Given the description of an element on the screen output the (x, y) to click on. 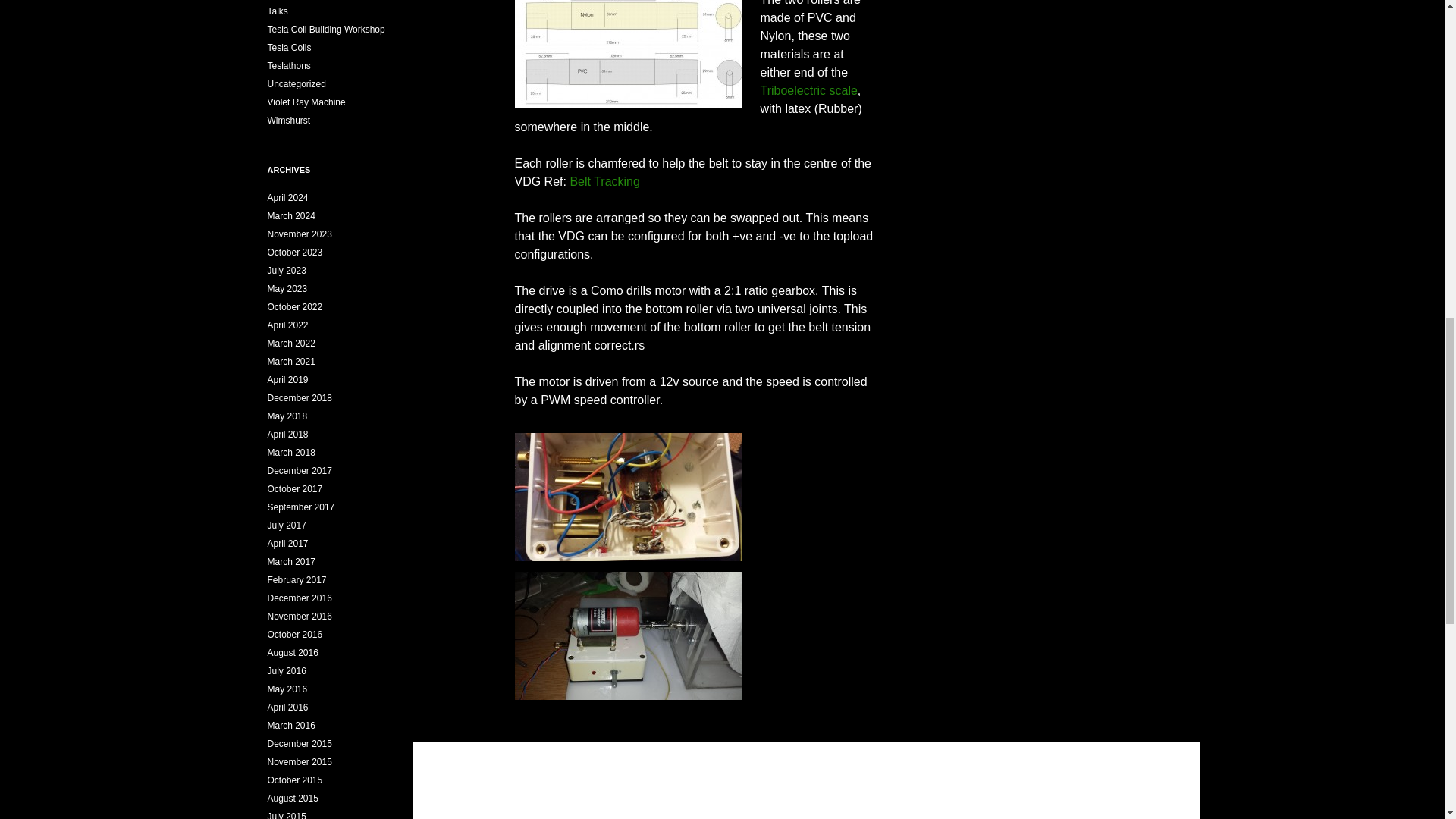
Tribo electric Scale (808, 90)
Belt Tracking (604, 181)
